Given the description of an element on the screen output the (x, y) to click on. 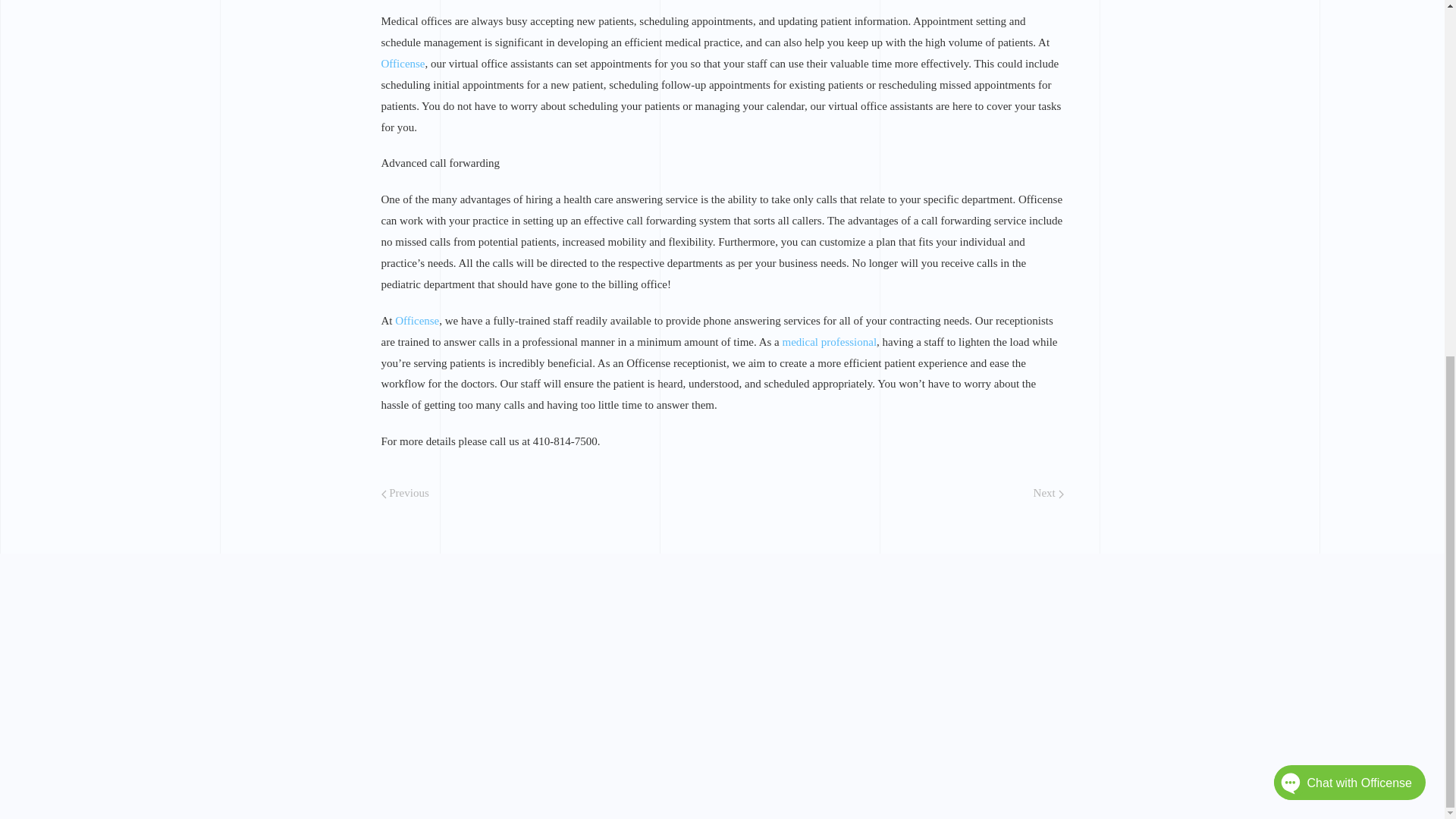
medical professional (830, 341)
Officense (402, 63)
Officense (416, 320)
Chat with Officense (1325, 158)
